Given the description of an element on the screen output the (x, y) to click on. 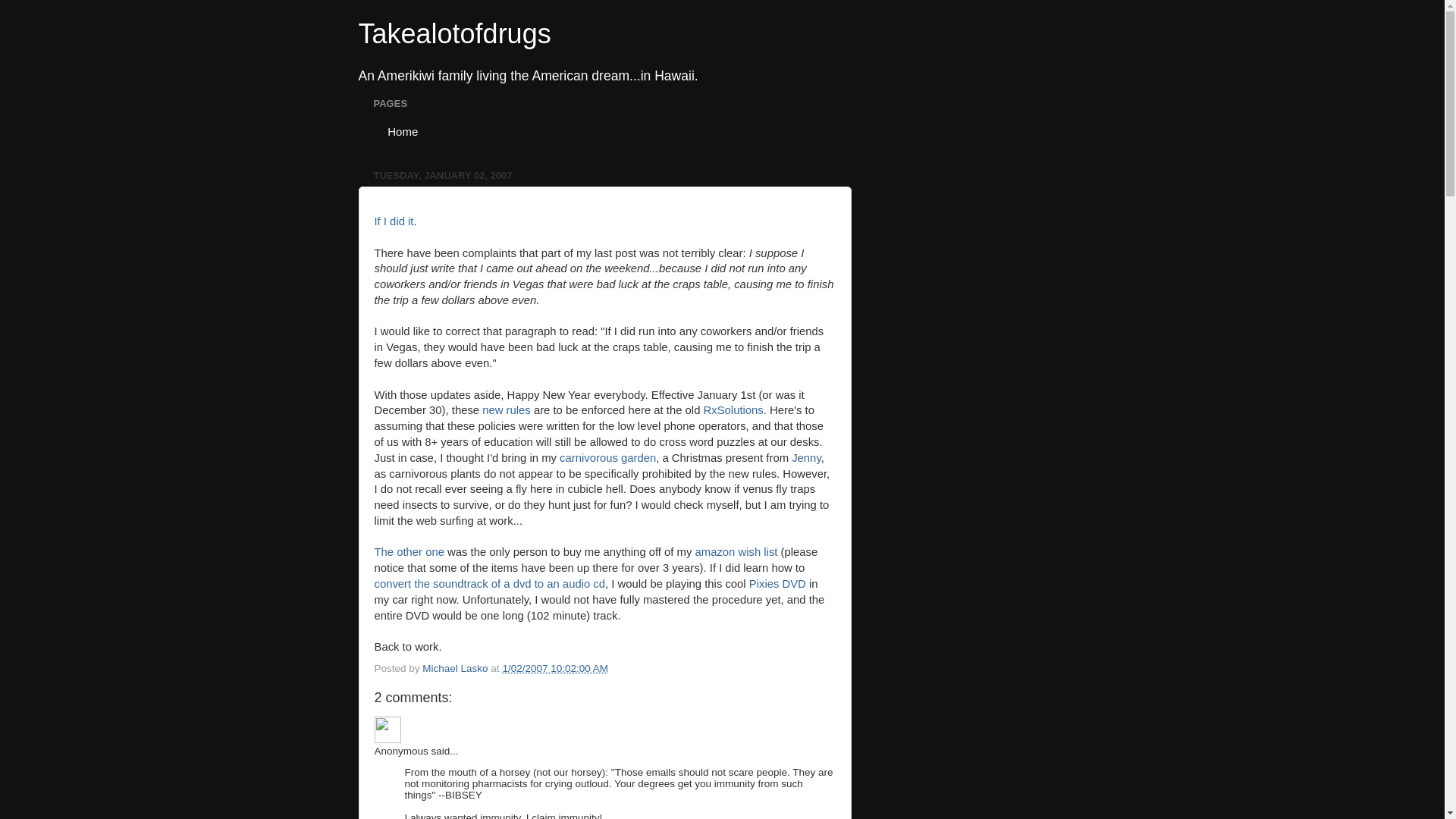
carnivorous garden (607, 458)
If I did it (393, 221)
The other one (409, 551)
new rules (506, 410)
permanent link (555, 668)
Takealotofdrugs (454, 33)
RxSolutions (732, 410)
Pixies DVD (777, 583)
author profile (456, 668)
amazon wish list (736, 551)
convert the soundtrack of a dvd to an audio cd (489, 583)
Jenny (806, 458)
Anonymous (387, 729)
Home (400, 130)
Michael Lasko (456, 668)
